Given the description of an element on the screen output the (x, y) to click on. 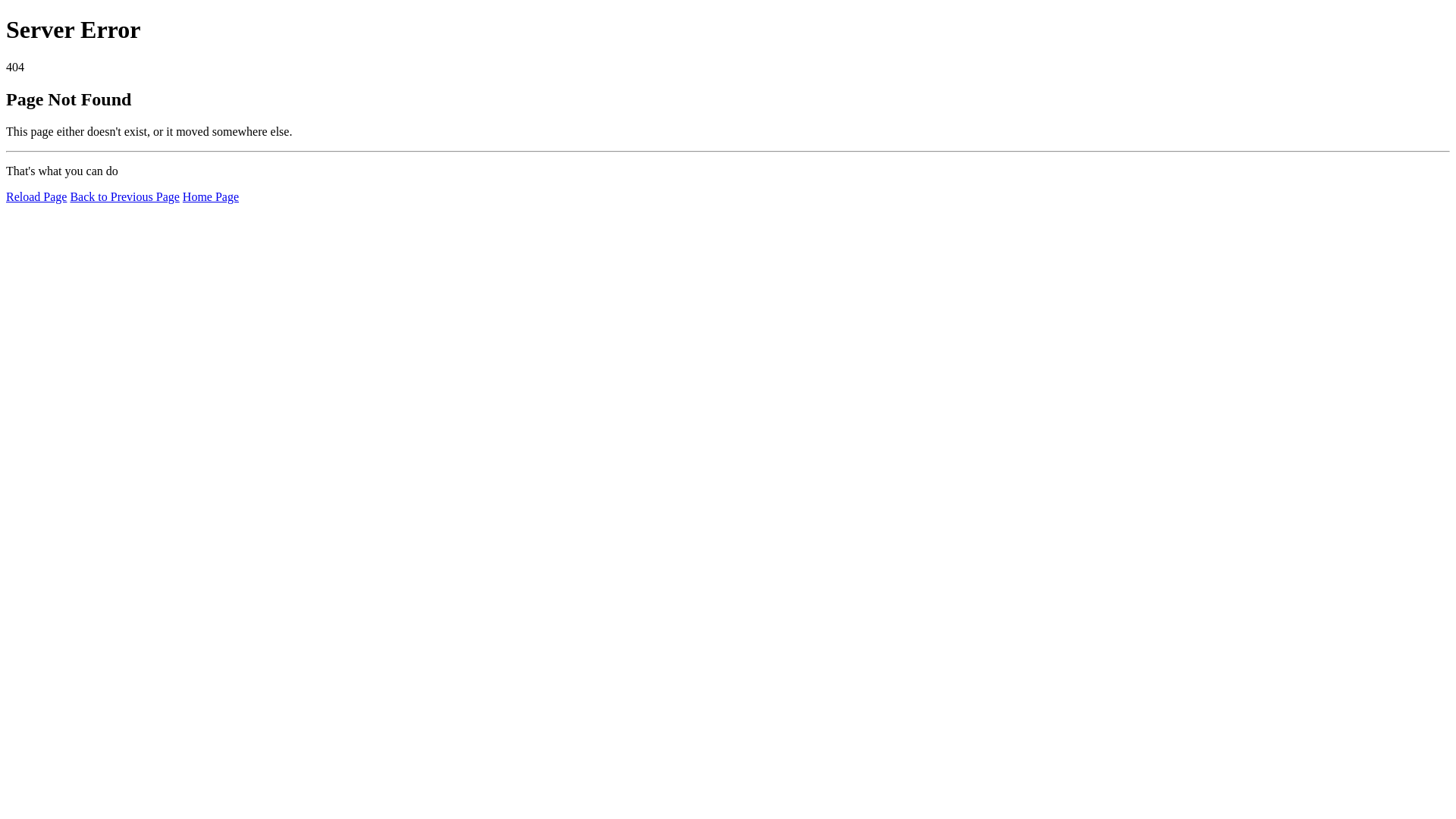
Reload Page Element type: text (36, 196)
Back to Previous Page Element type: text (123, 196)
Home Page Element type: text (210, 196)
